Given the description of an element on the screen output the (x, y) to click on. 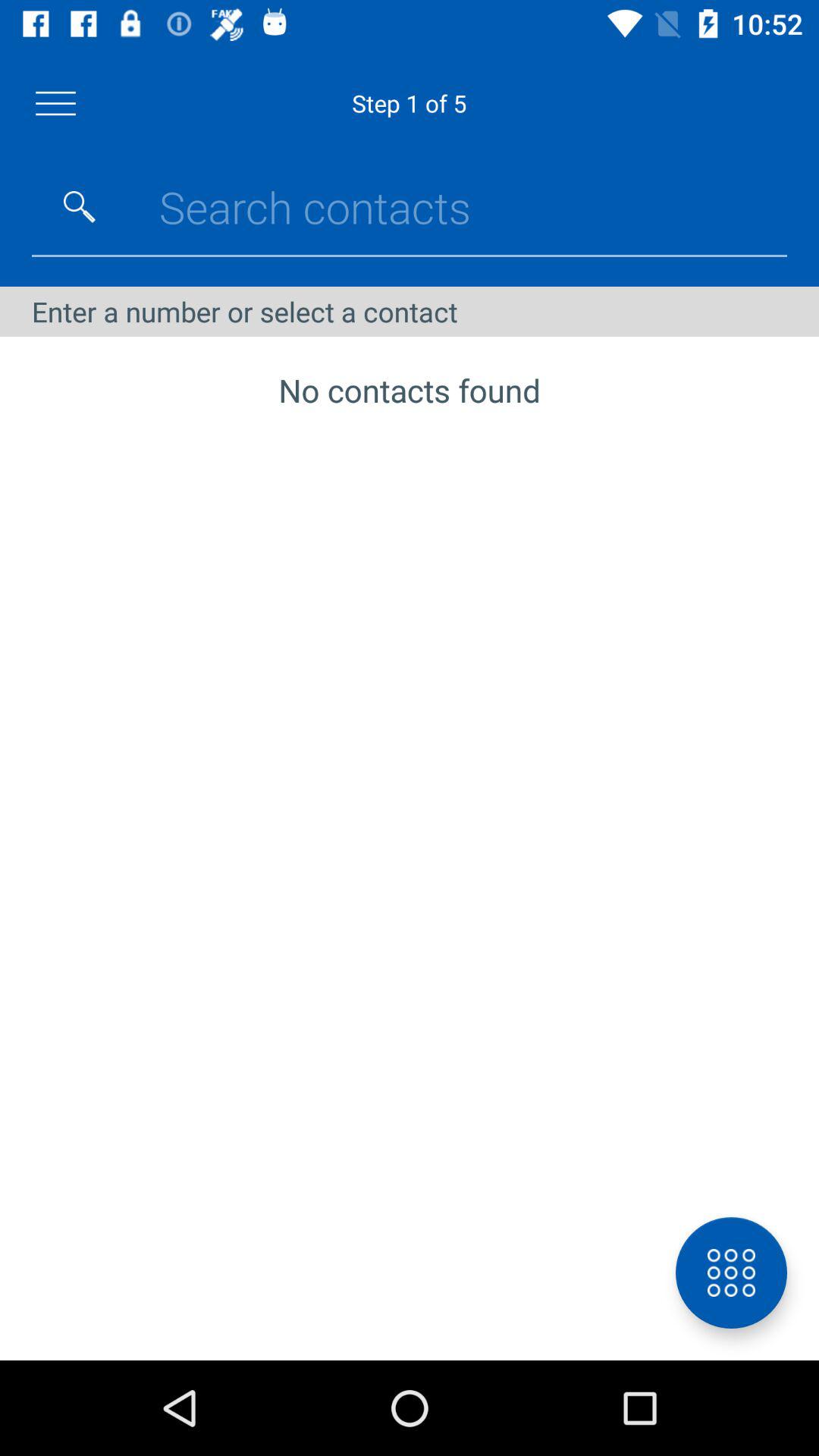
click the item next to search contacts item (79, 206)
